Given the description of an element on the screen output the (x, y) to click on. 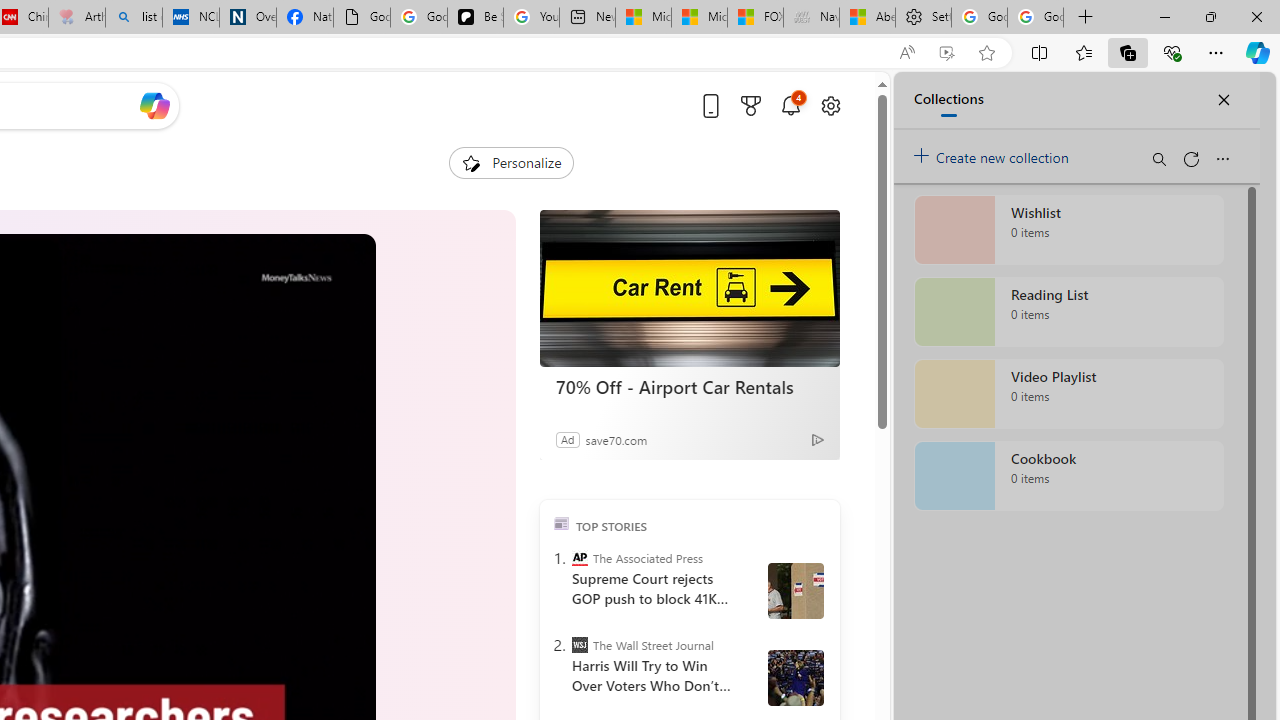
FOX News - MSN (755, 17)
70% Off - Airport Car Rentals (689, 386)
